Given the description of an element on the screen output the (x, y) to click on. 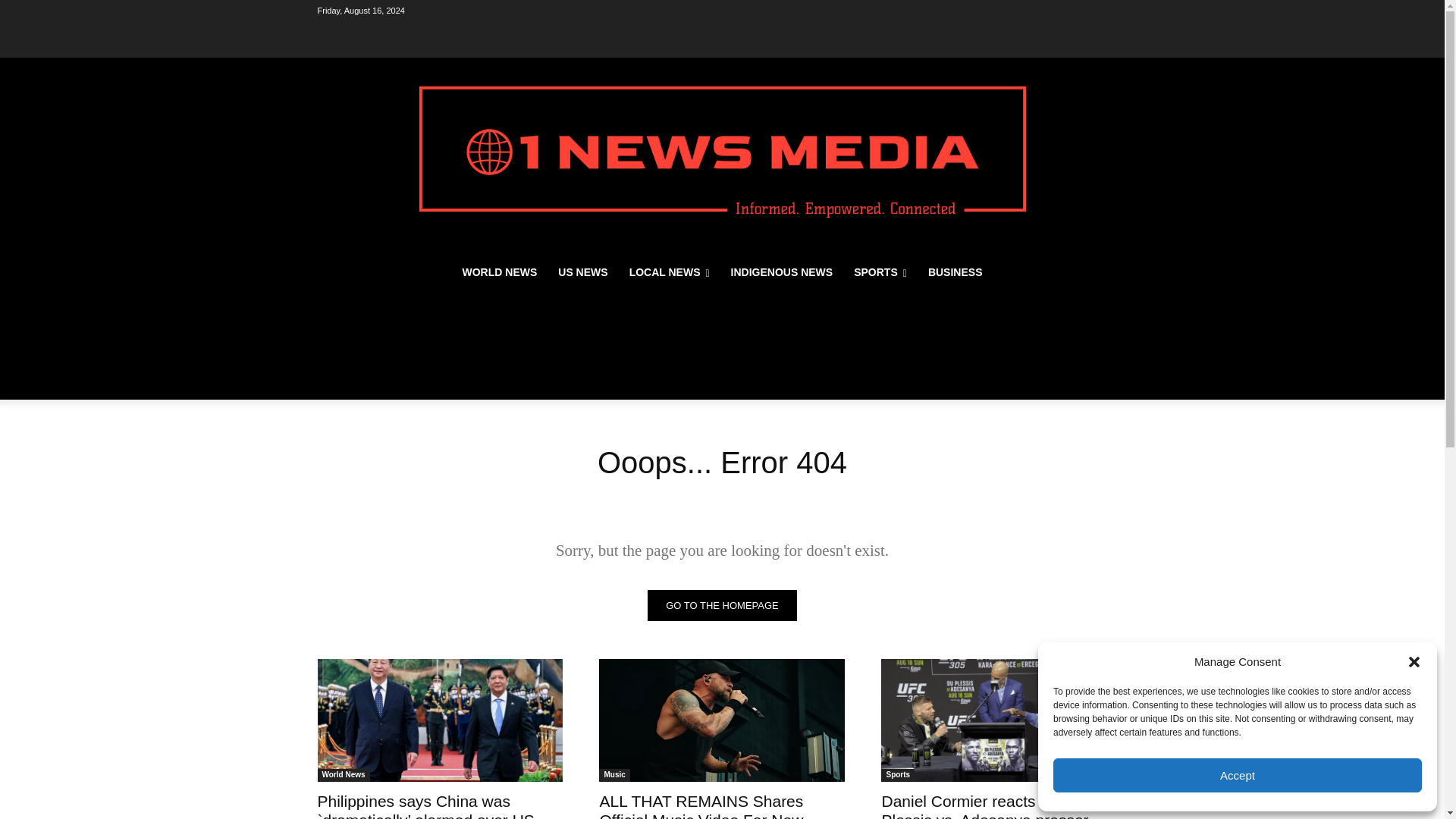
Accept (1237, 775)
SPORTS (880, 271)
WORLD NEWS (499, 271)
INDIGENOUS NEWS (782, 271)
Daniel Cormier reacts to Du Plessis vs. Adesanya presser (983, 805)
LOCAL NEWS (669, 271)
Go to the homepage (721, 604)
US NEWS (582, 271)
Daniel Cormier reacts to Du Plessis vs. Adesanya presser (1003, 720)
BUSINESS (954, 271)
